Given the description of an element on the screen output the (x, y) to click on. 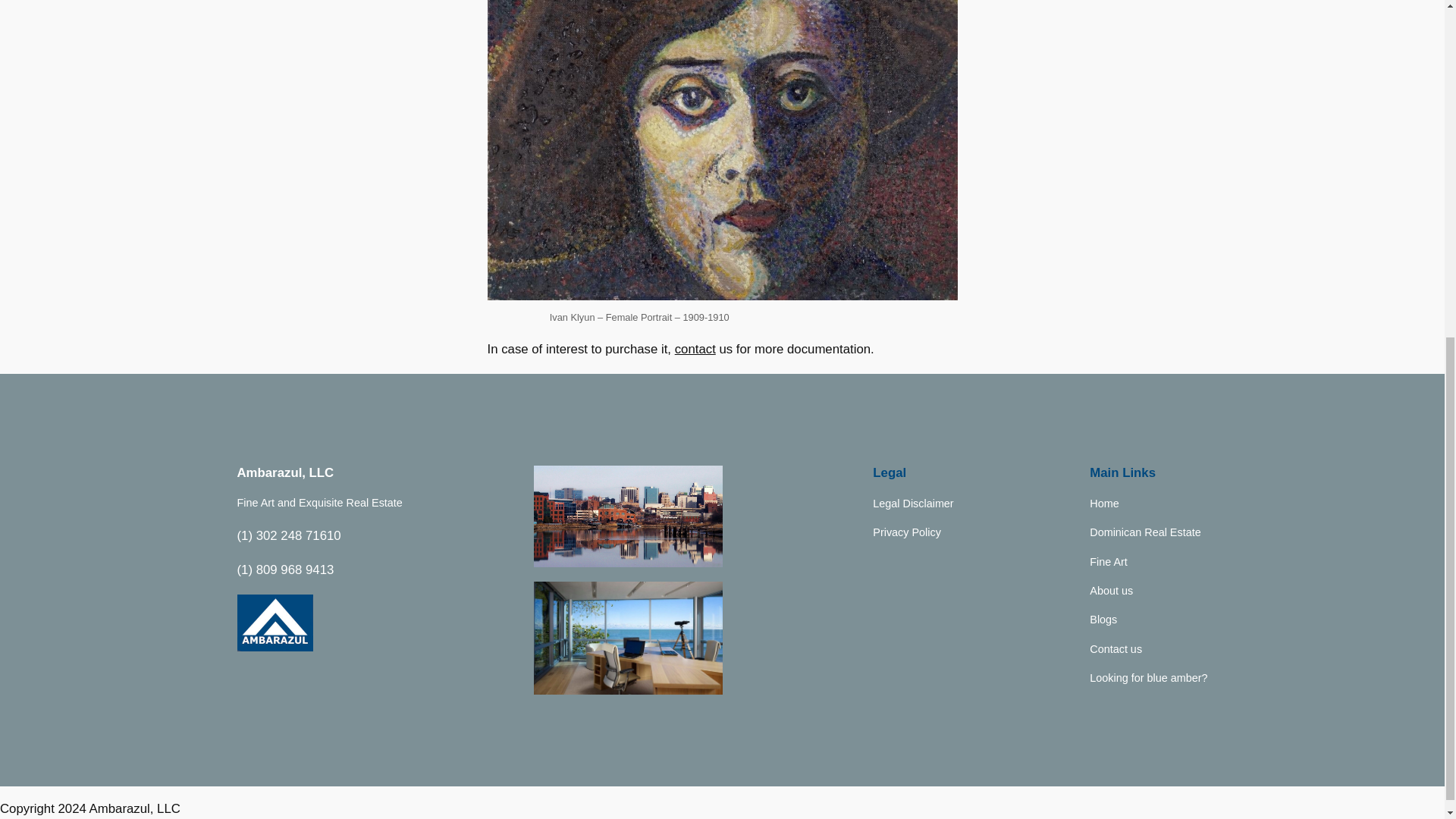
Legal Disclaimer (912, 503)
Blogs (1102, 619)
Dominican Real Estate (1144, 532)
Fine Art (1107, 561)
Home (1103, 503)
contact (695, 349)
About us (1110, 590)
Looking for blue amber? (1148, 677)
Privacy Policy (906, 532)
Ambarazul, LLC (284, 472)
